Given the description of an element on the screen output the (x, y) to click on. 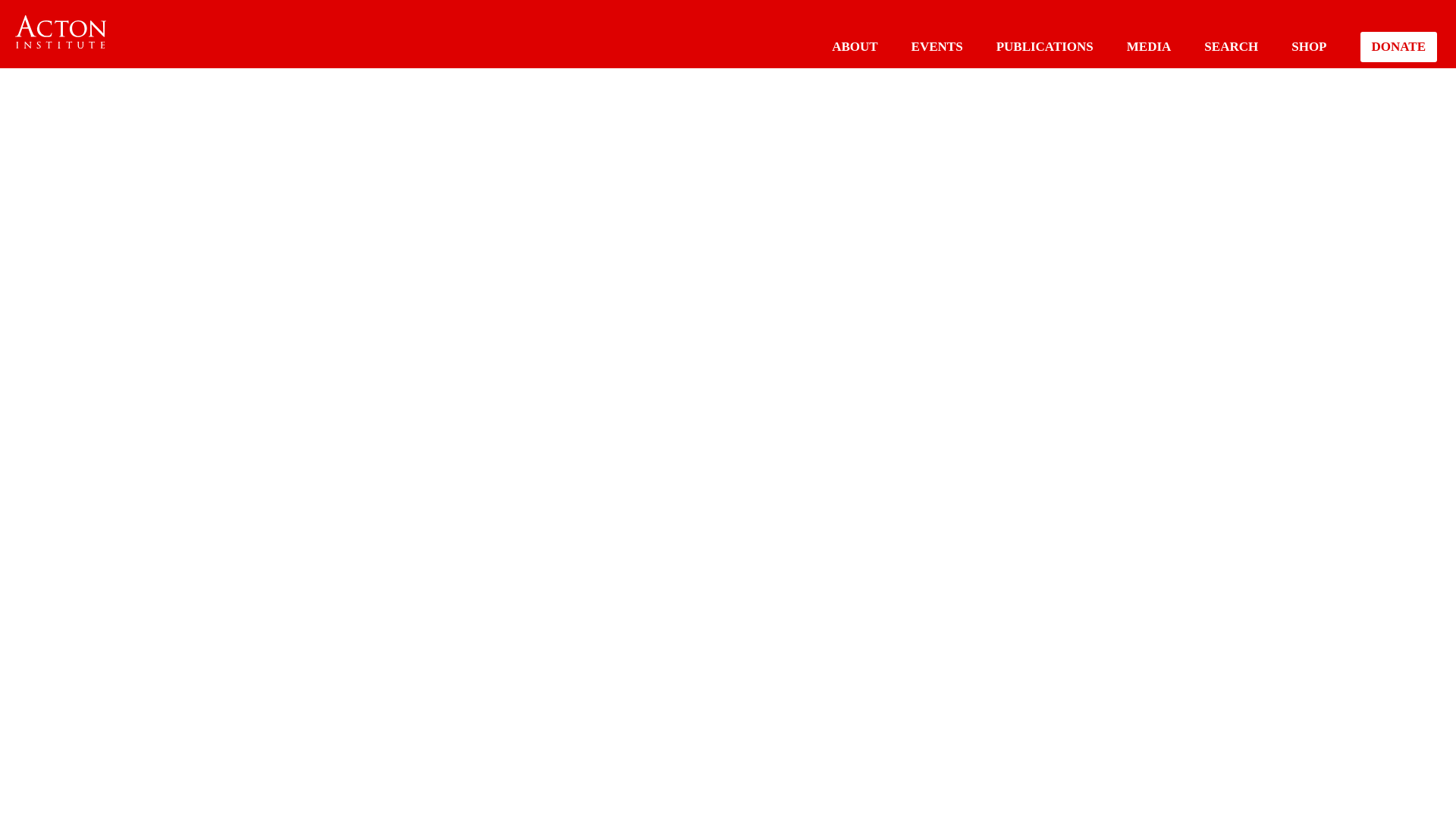
The Acton Institute (60, 31)
SEARCH (1230, 46)
EVENTS (936, 46)
SHOP (1308, 46)
MEDIA (1149, 46)
PUBLICATIONS (1044, 46)
DONATE (1398, 46)
ABOUT (854, 46)
